Given the description of an element on the screen output the (x, y) to click on. 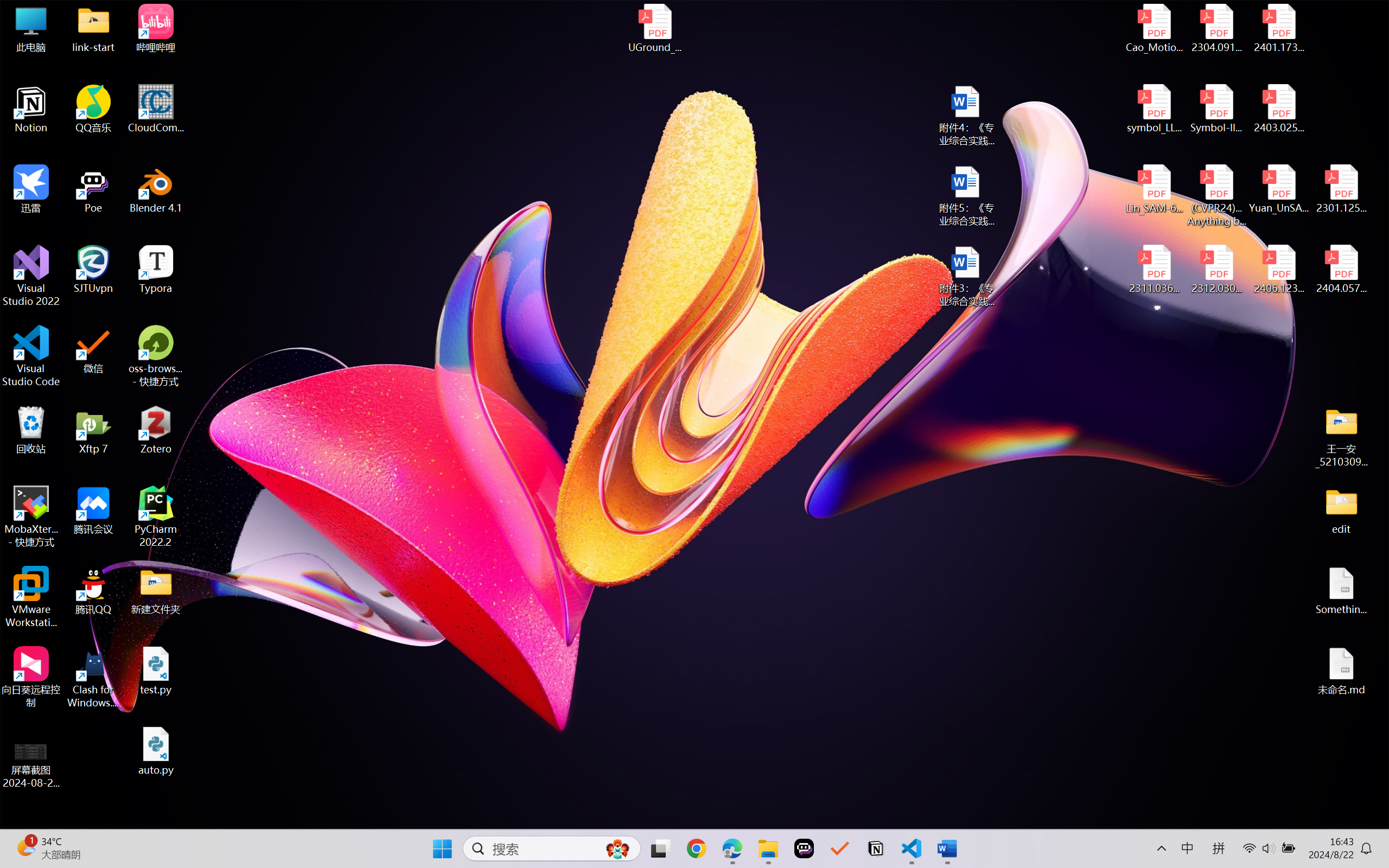
Visual Studio Code (31, 355)
2311.03658v2.pdf (1154, 269)
2404.05719v1.pdf (1340, 269)
Xftp 7 (93, 430)
2304.09121v3.pdf (1216, 28)
2406.12373v2.pdf (1278, 269)
CloudCompare (156, 109)
2301.12597v3.pdf (1340, 189)
